Given the description of an element on the screen output the (x, y) to click on. 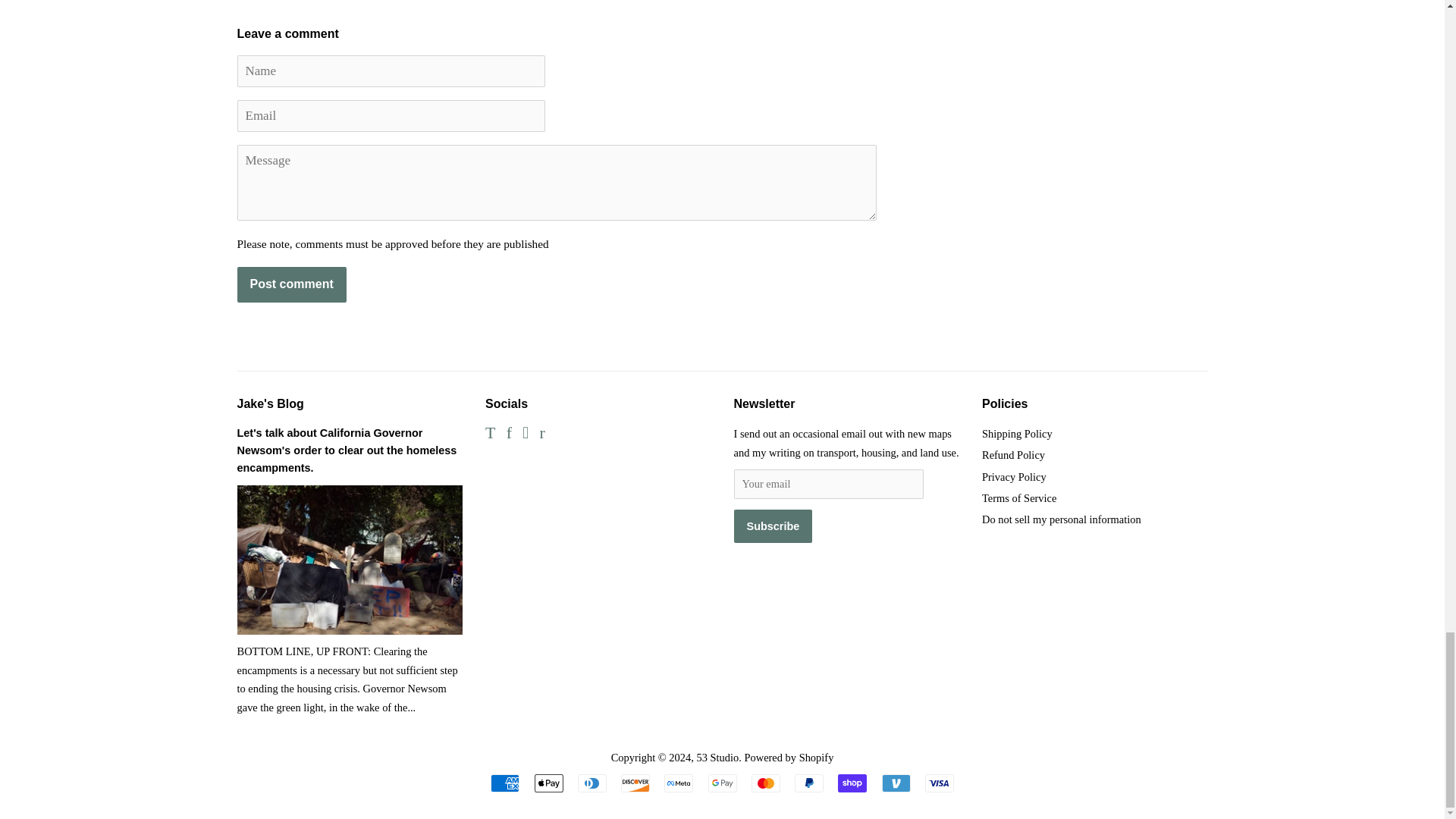
Google Pay (721, 782)
Venmo (895, 782)
Diners Club (592, 782)
PayPal (809, 782)
Apple Pay (548, 782)
Shop Pay (852, 782)
Discover (635, 782)
Meta Pay (678, 782)
Visa (938, 782)
Post comment (290, 284)
